Given the description of an element on the screen output the (x, y) to click on. 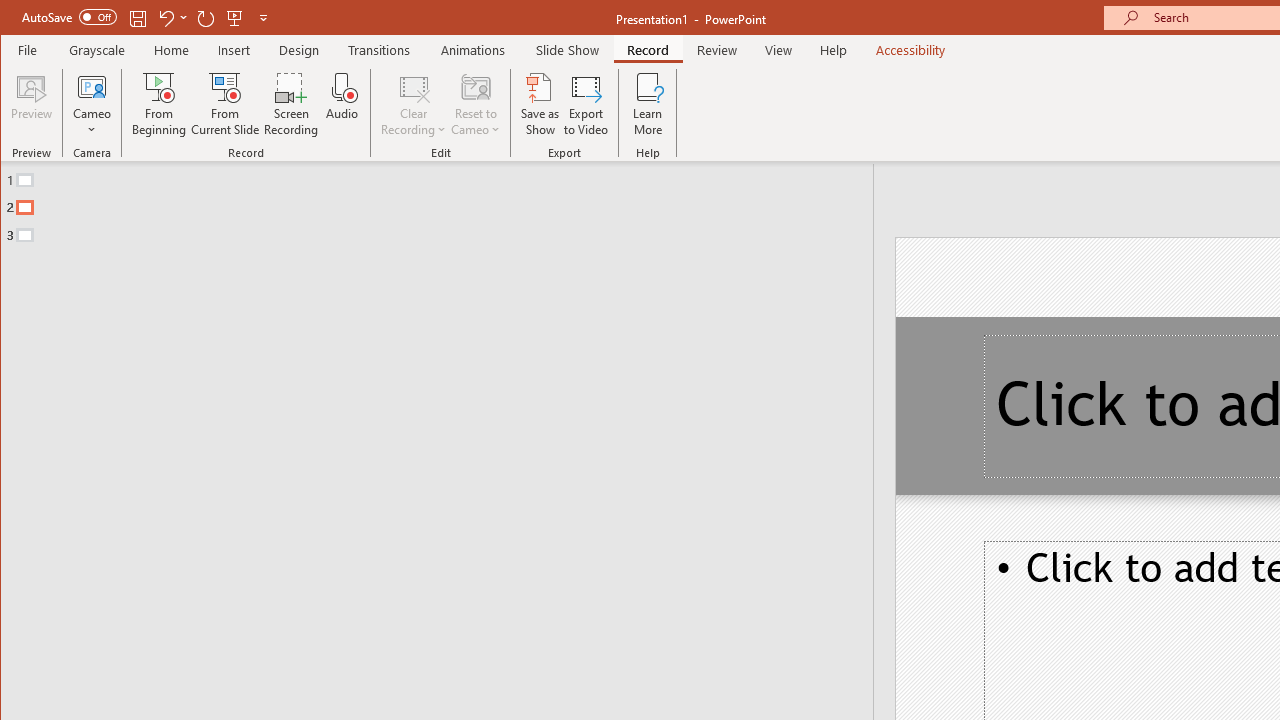
Outline (445, 203)
From Beginning... (159, 104)
Save as Show (539, 104)
Audio (342, 104)
Grayscale (97, 50)
